Given the description of an element on the screen output the (x, y) to click on. 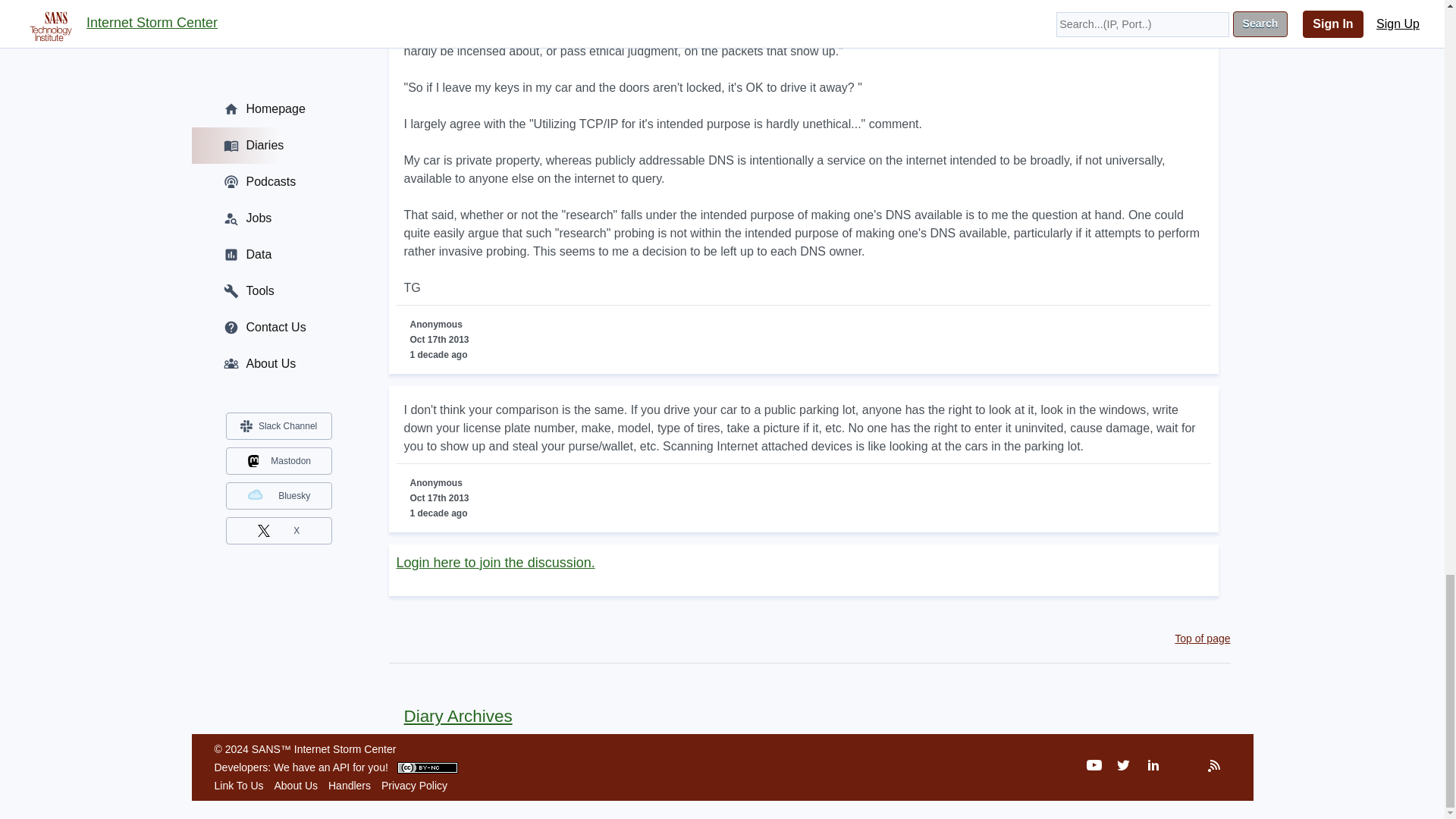
Diary Archives (450, 715)
Login here to join the discussion. (495, 562)
Top of page (1202, 638)
